Given the description of an element on the screen output the (x, y) to click on. 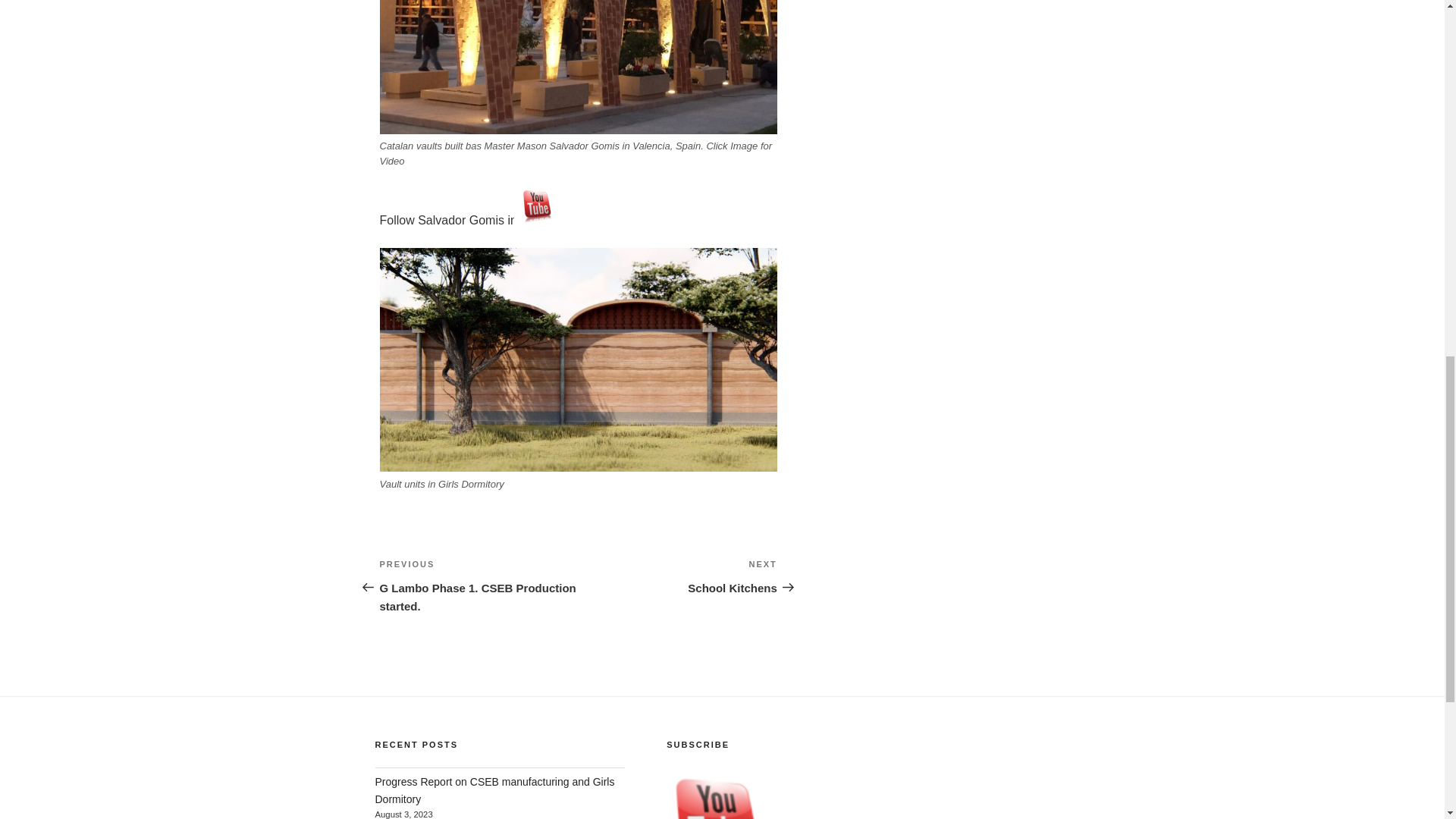
Progress Report on CSEB manufacturing and Girls Dormitory (494, 789)
Subscribe (723, 793)
